Given the description of an element on the screen output the (x, y) to click on. 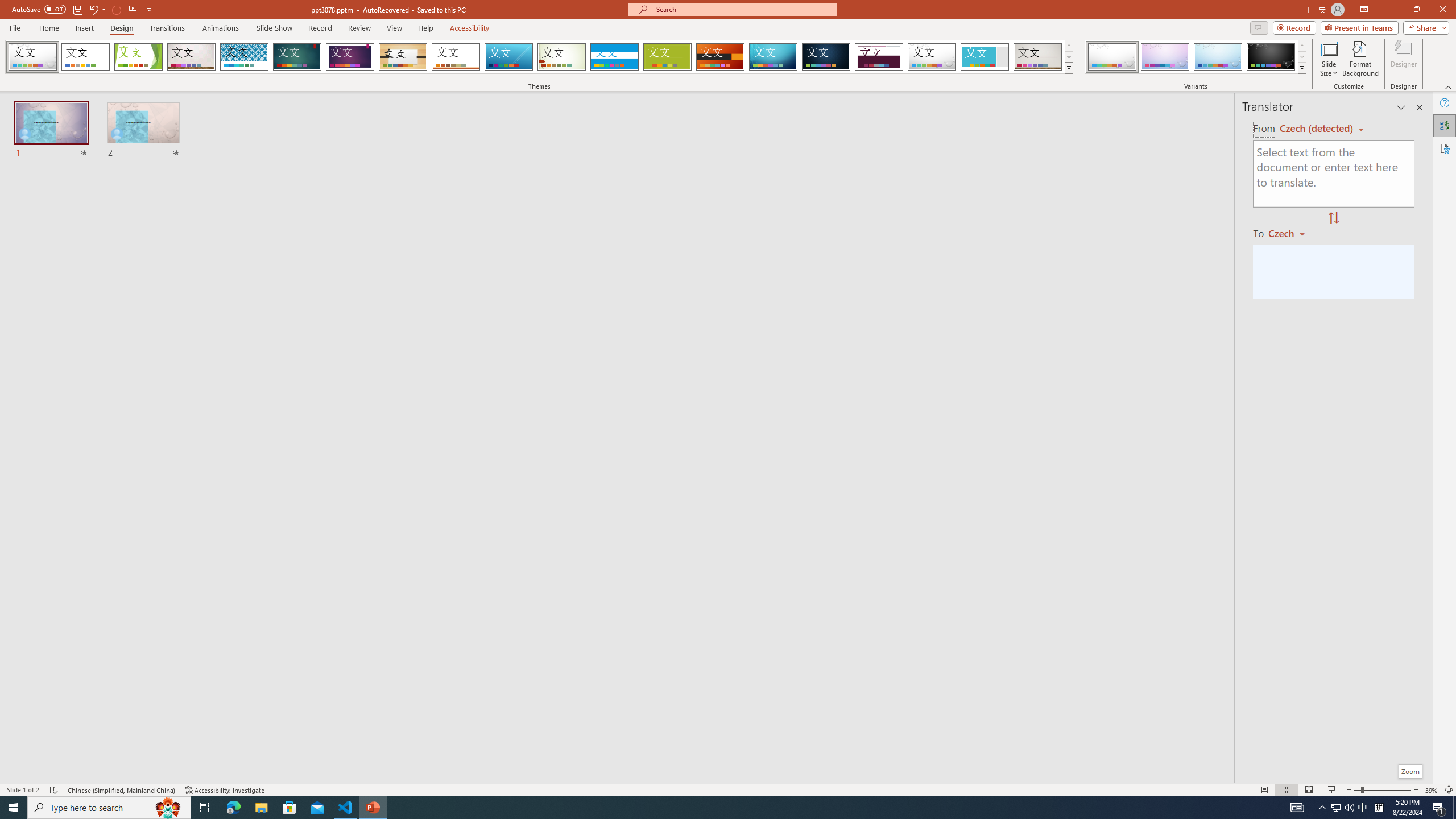
Zoom 39% (1431, 790)
Ion Boardroom (350, 56)
Droplet Variant 2 (1164, 56)
